Given the description of an element on the screen output the (x, y) to click on. 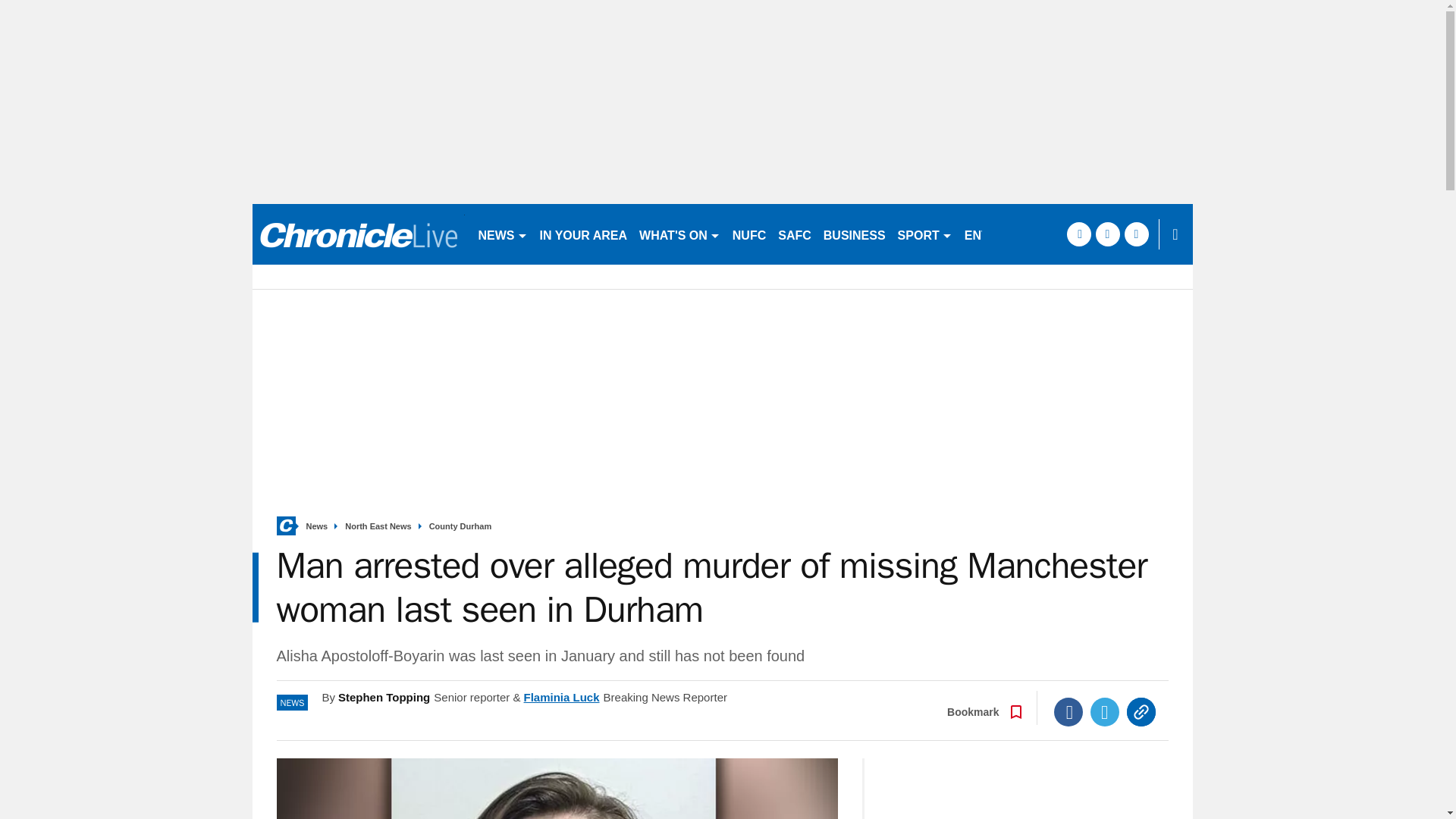
Twitter (1104, 711)
NEWS (501, 233)
WHAT'S ON (679, 233)
BUSINESS (853, 233)
SPORT (924, 233)
IN YOUR AREA (583, 233)
instagram (1136, 233)
facebook (1077, 233)
nechronicle (357, 233)
twitter (1106, 233)
